Given the description of an element on the screen output the (x, y) to click on. 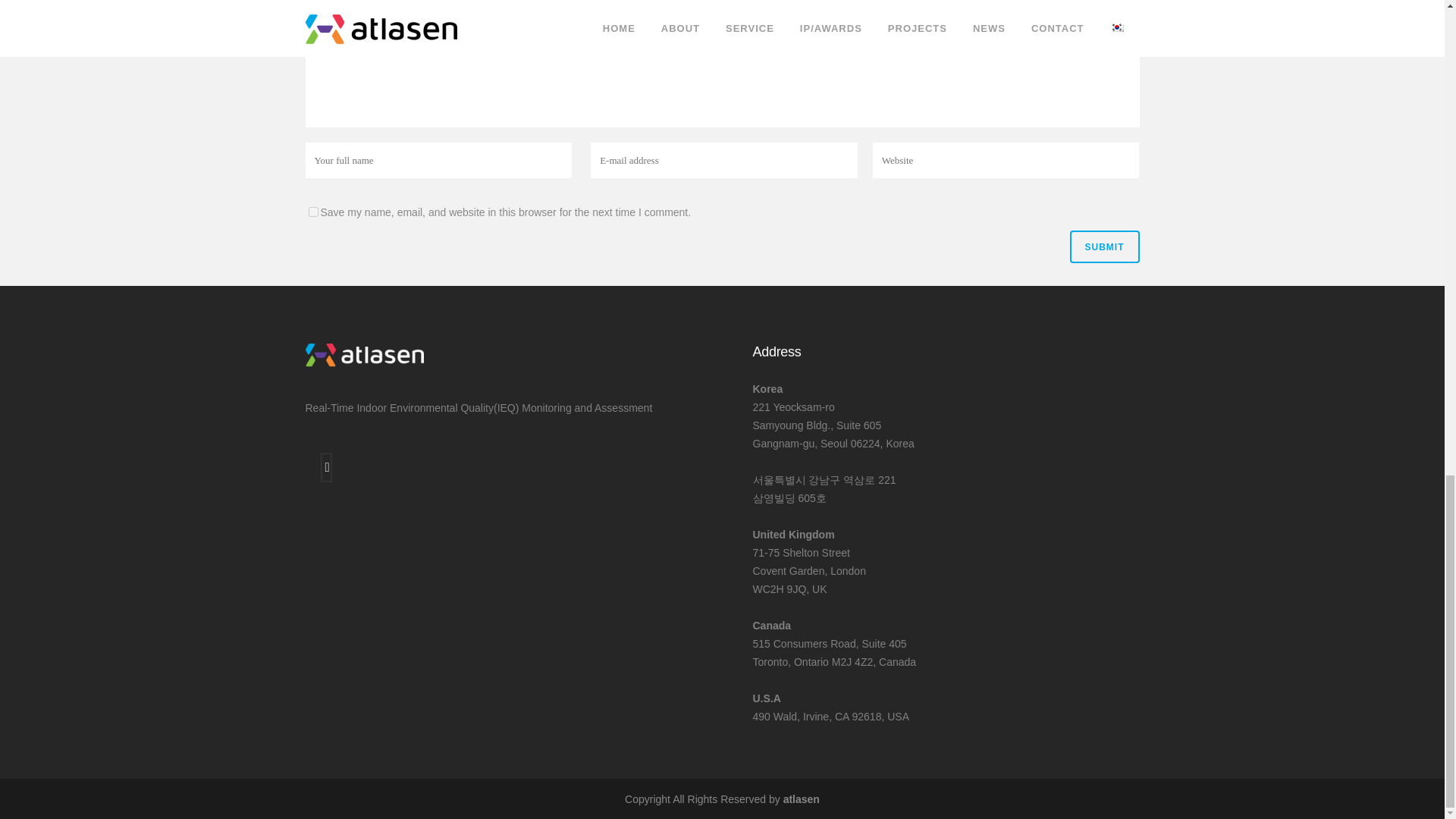
Submit (1103, 246)
yes (312, 212)
